Given the description of an element on the screen output the (x, y) to click on. 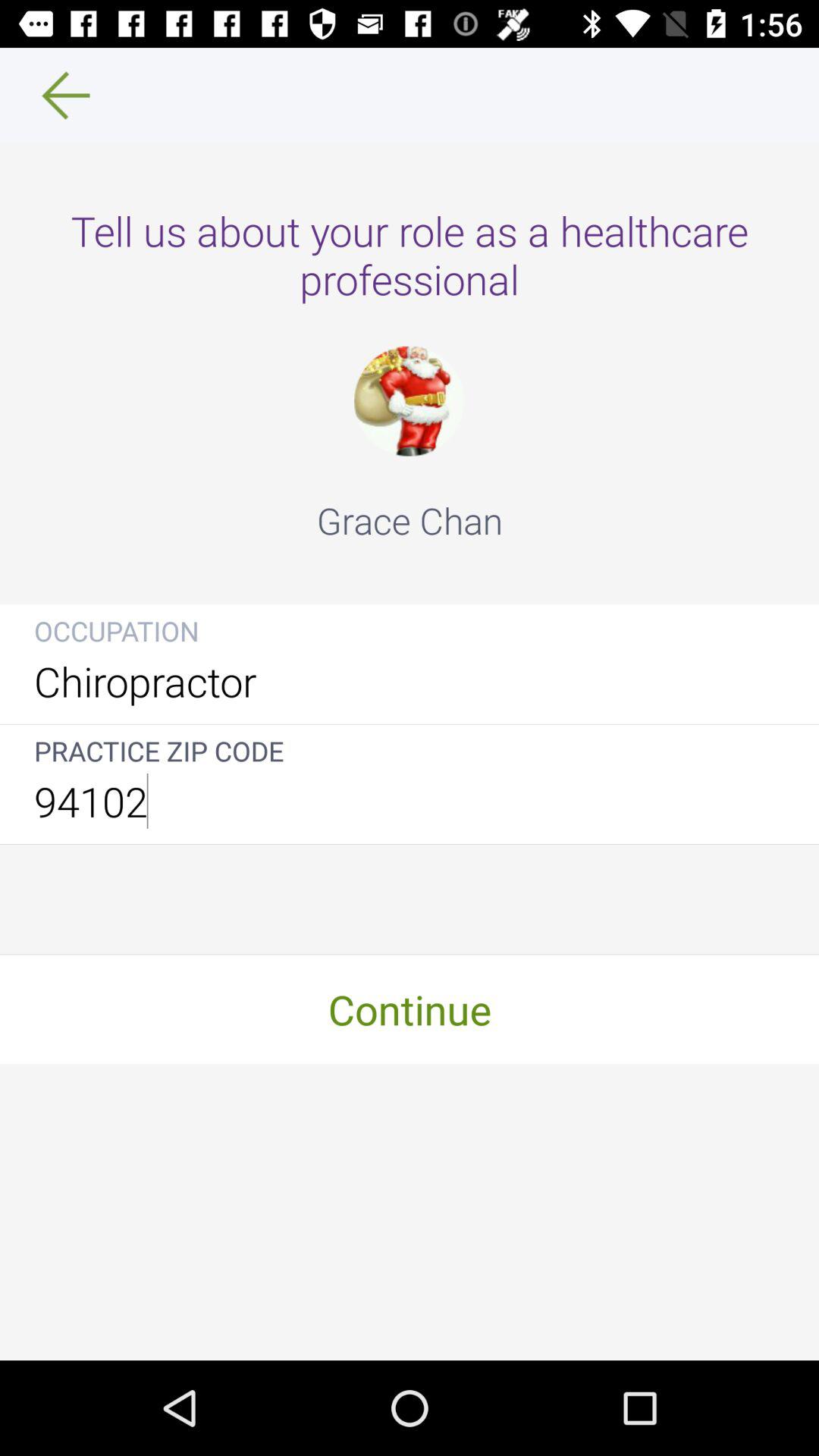
turn off icon below 94102 (409, 1009)
